Given the description of an element on the screen output the (x, y) to click on. 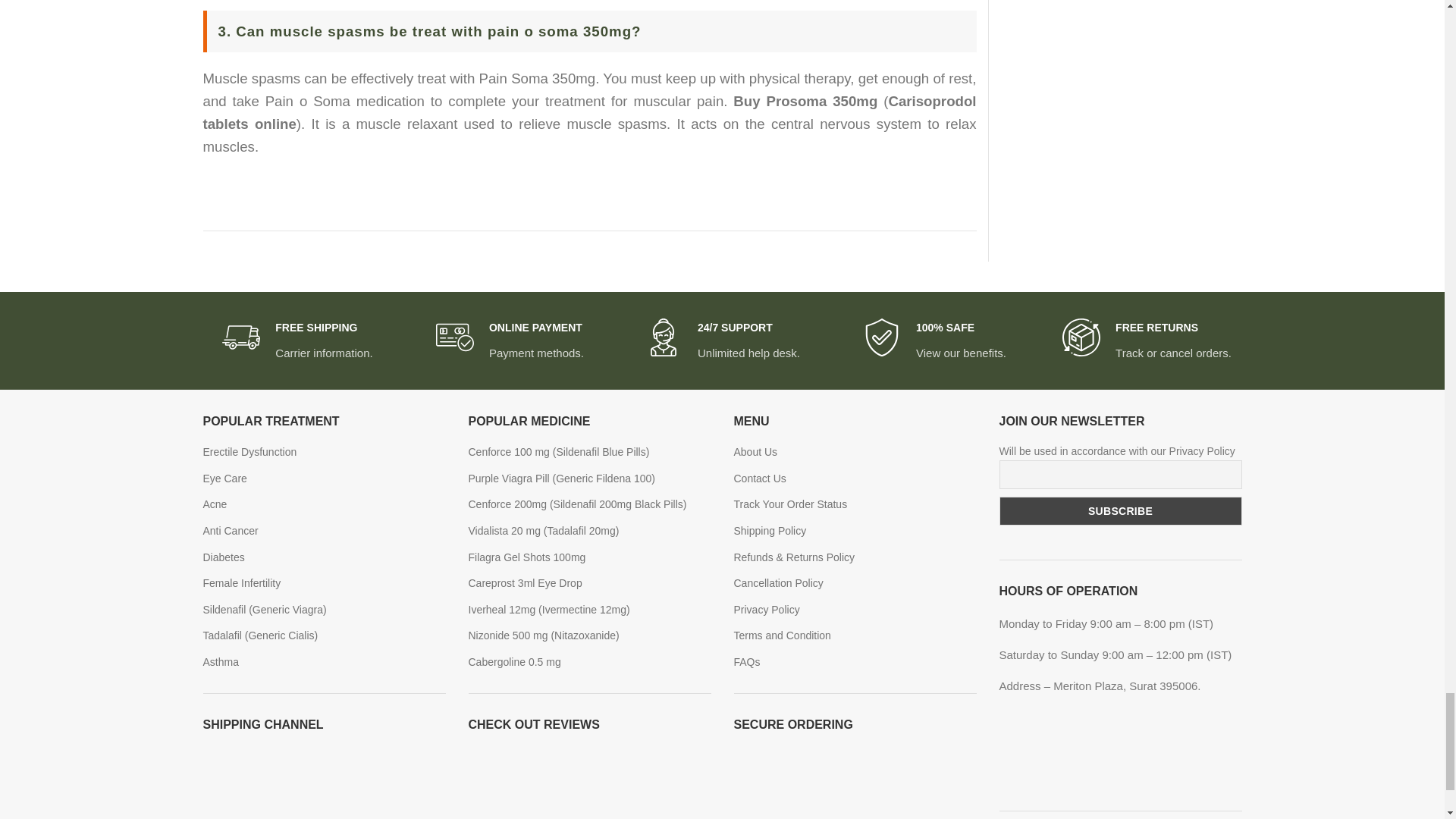
Subscribe (1119, 510)
